Given the description of an element on the screen output the (x, y) to click on. 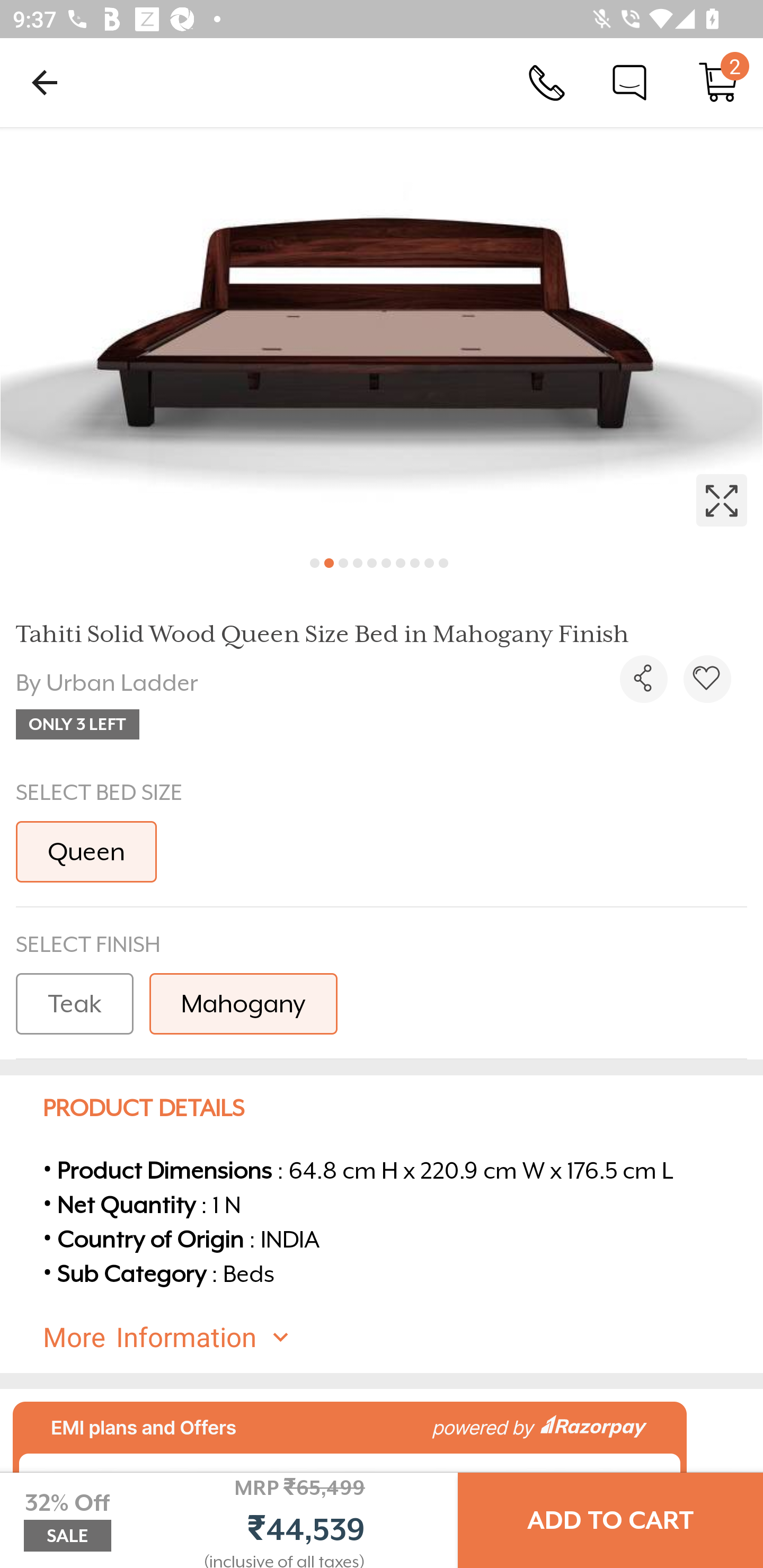
Navigate up (44, 82)
Call Us (546, 81)
Chat (629, 81)
Cart (718, 81)
 (381, 334)
 (643, 678)
 (706, 678)
Queen (86, 851)
Teak (74, 1003)
Mahogany (243, 1003)
More Information  (396, 1337)
ADD TO CART (610, 1520)
